Given the description of an element on the screen output the (x, y) to click on. 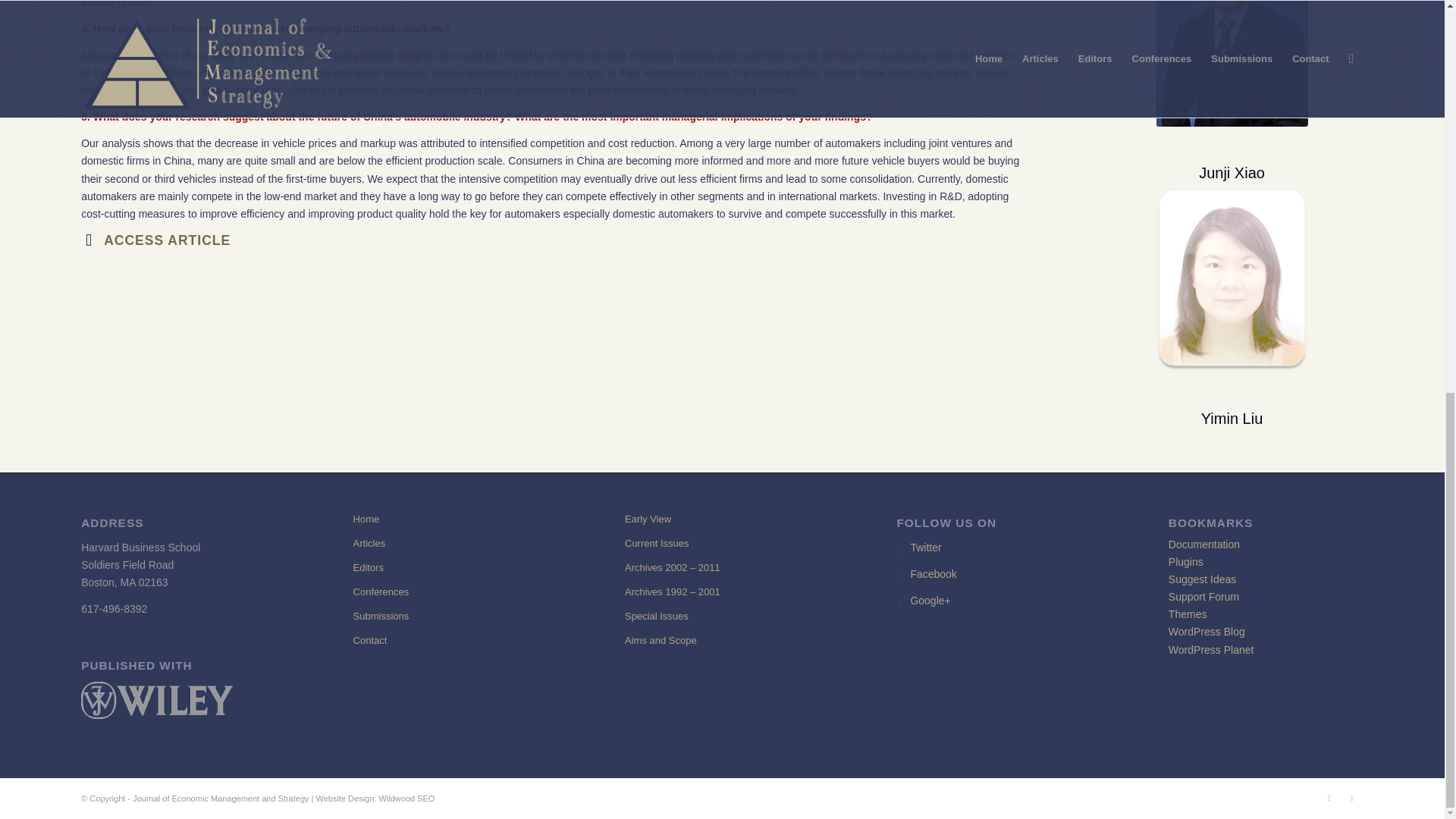
Plugins (1186, 562)
Access Article (88, 239)
Suggest Ideas (1202, 579)
Editors (450, 567)
WordPress Blog (1206, 631)
WordPress Planet (1211, 649)
Home (450, 518)
Twitter (925, 547)
Documentation (1204, 544)
Articles (450, 543)
Twitter (1328, 797)
Facebook (1351, 797)
Themes (1188, 613)
Facebook (933, 573)
Submissions (450, 616)
